Given the description of an element on the screen output the (x, y) to click on. 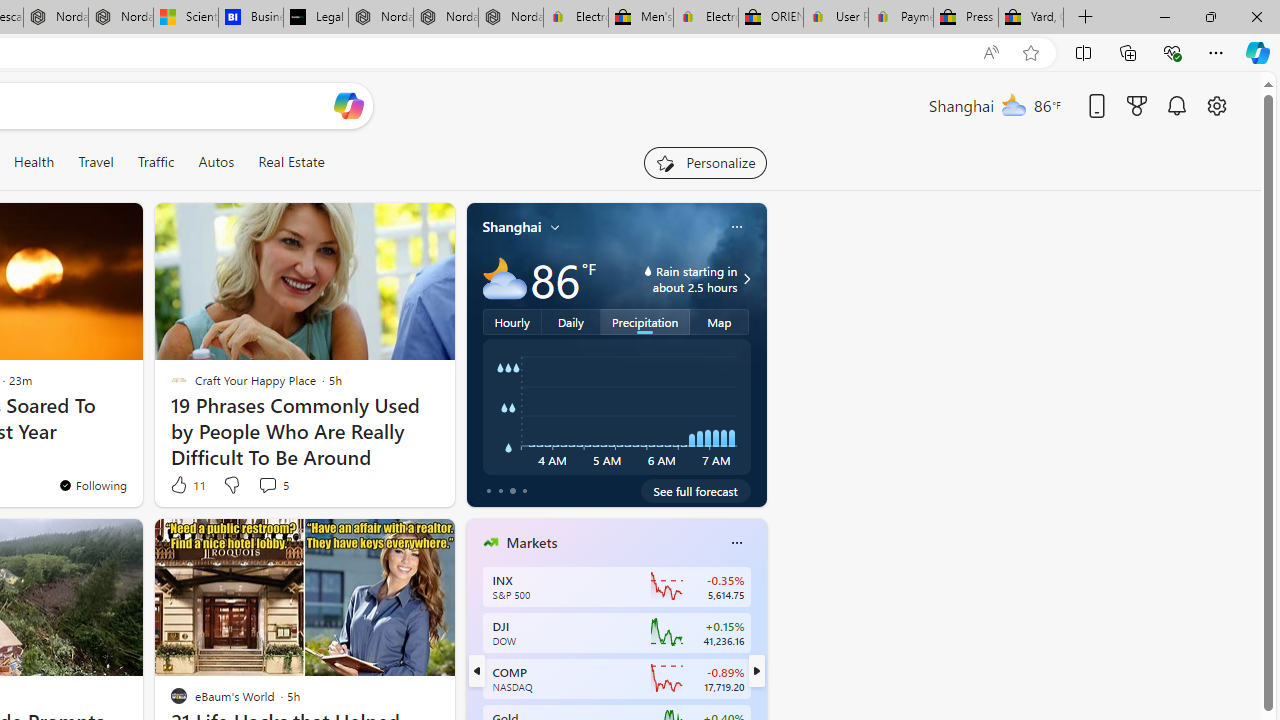
View comments 5 Comment (267, 485)
Mostly cloudy (504, 278)
tab-2 (511, 490)
